Given the description of an element on the screen output the (x, y) to click on. 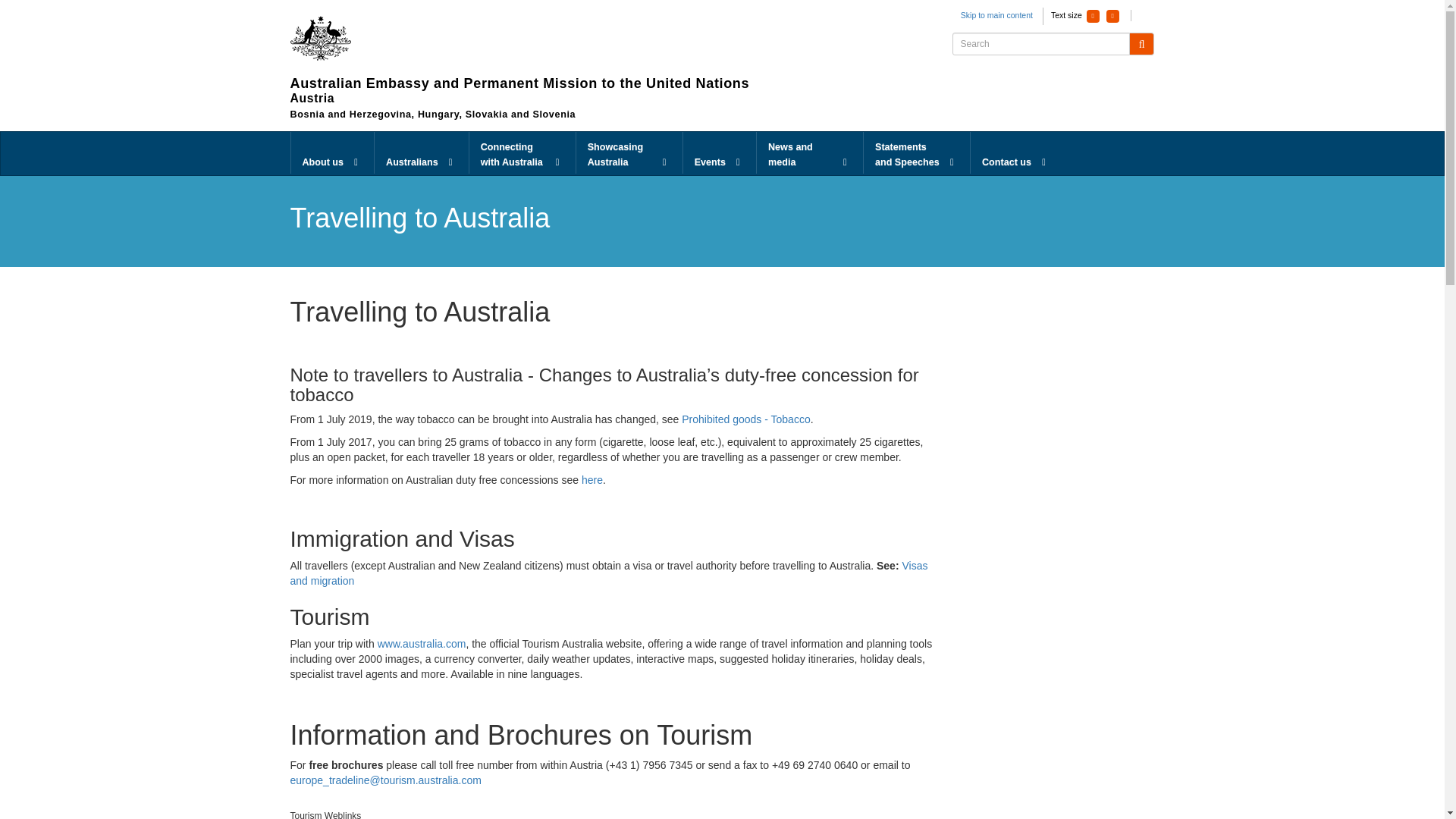
Australians   (421, 153)
News and media   (810, 153)
Events   (718, 153)
Showcasing Australia   (629, 153)
Connecting with Australia   (521, 153)
About us   (332, 153)
Increase text size. (1112, 15)
Reduce text size. (1092, 15)
Statements and Speeches   (916, 153)
Skip to main content (996, 14)
